Given the description of an element on the screen output the (x, y) to click on. 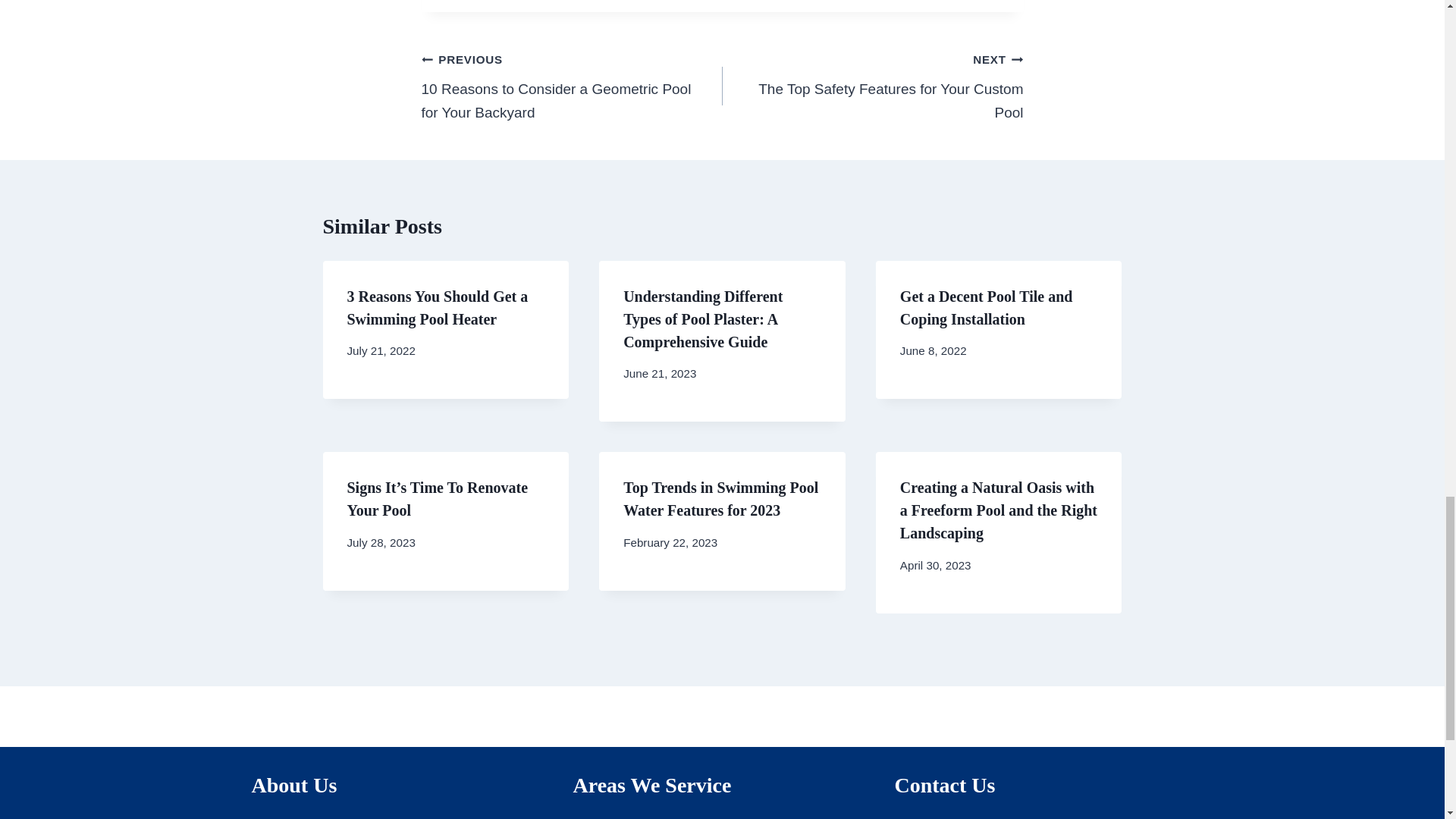
3 Reasons You Should Get a Swimming Pool Heater (437, 307)
Get a Decent Pool Tile and Coping Installation (986, 307)
Top Trends in Swimming Pool Water Features for 2023 (872, 85)
